Given the description of an element on the screen output the (x, y) to click on. 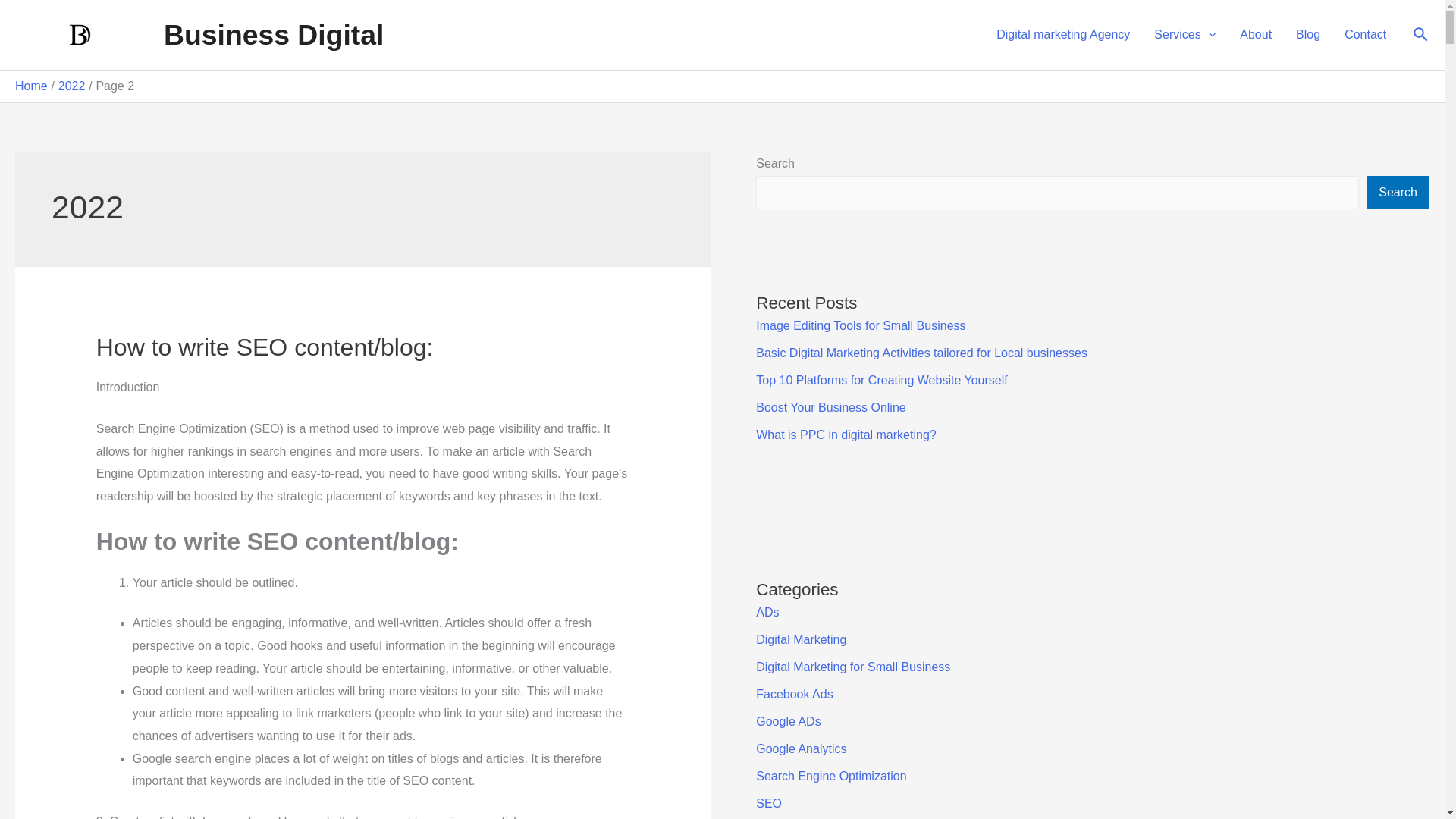
Contact (1364, 34)
Blog (1308, 34)
About (1255, 34)
Services (1184, 34)
Business Digital (273, 34)
Digital marketing Agency (1062, 34)
Search (1421, 34)
Home (31, 85)
2022 (71, 85)
